Given the description of an element on the screen output the (x, y) to click on. 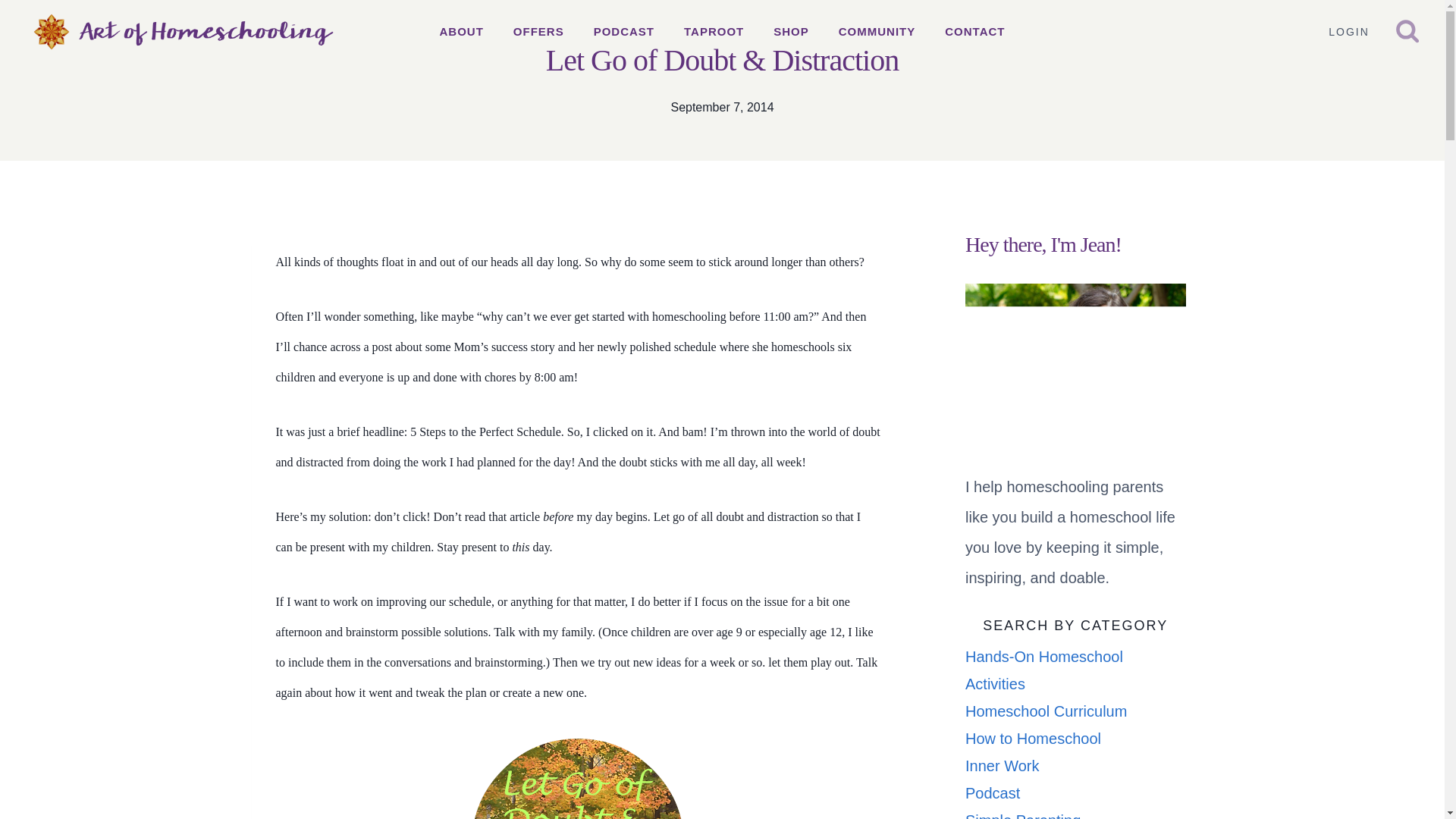
SHOP (791, 31)
PODCAST (623, 31)
COMMUNITY (877, 31)
OFFERS (537, 31)
TAPROOT (713, 31)
ABOUT (461, 31)
CONTACT (975, 31)
LOGIN (1348, 32)
